Given the description of an element on the screen output the (x, y) to click on. 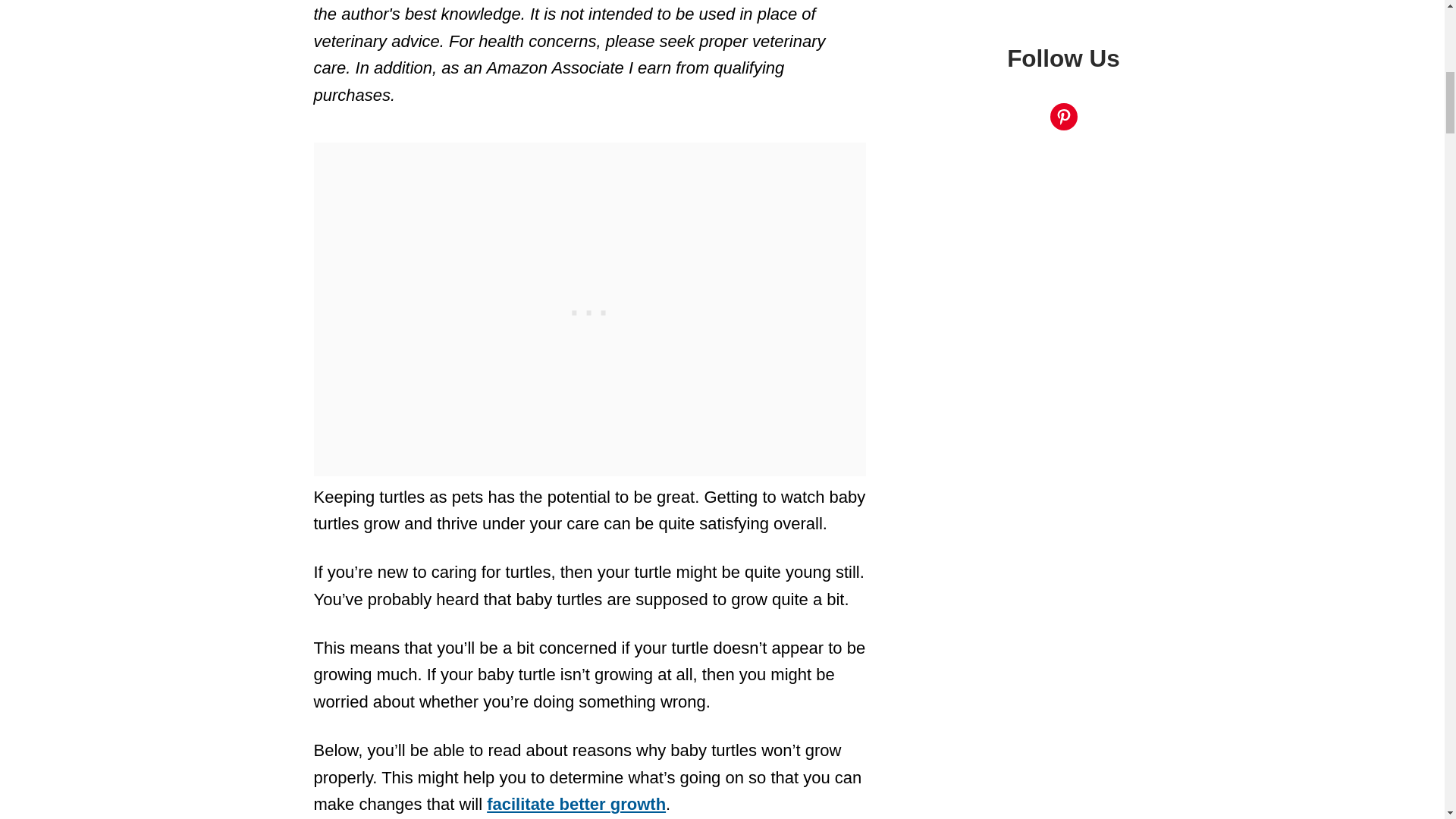
facilitate better growth (575, 804)
